Given the description of an element on the screen output the (x, y) to click on. 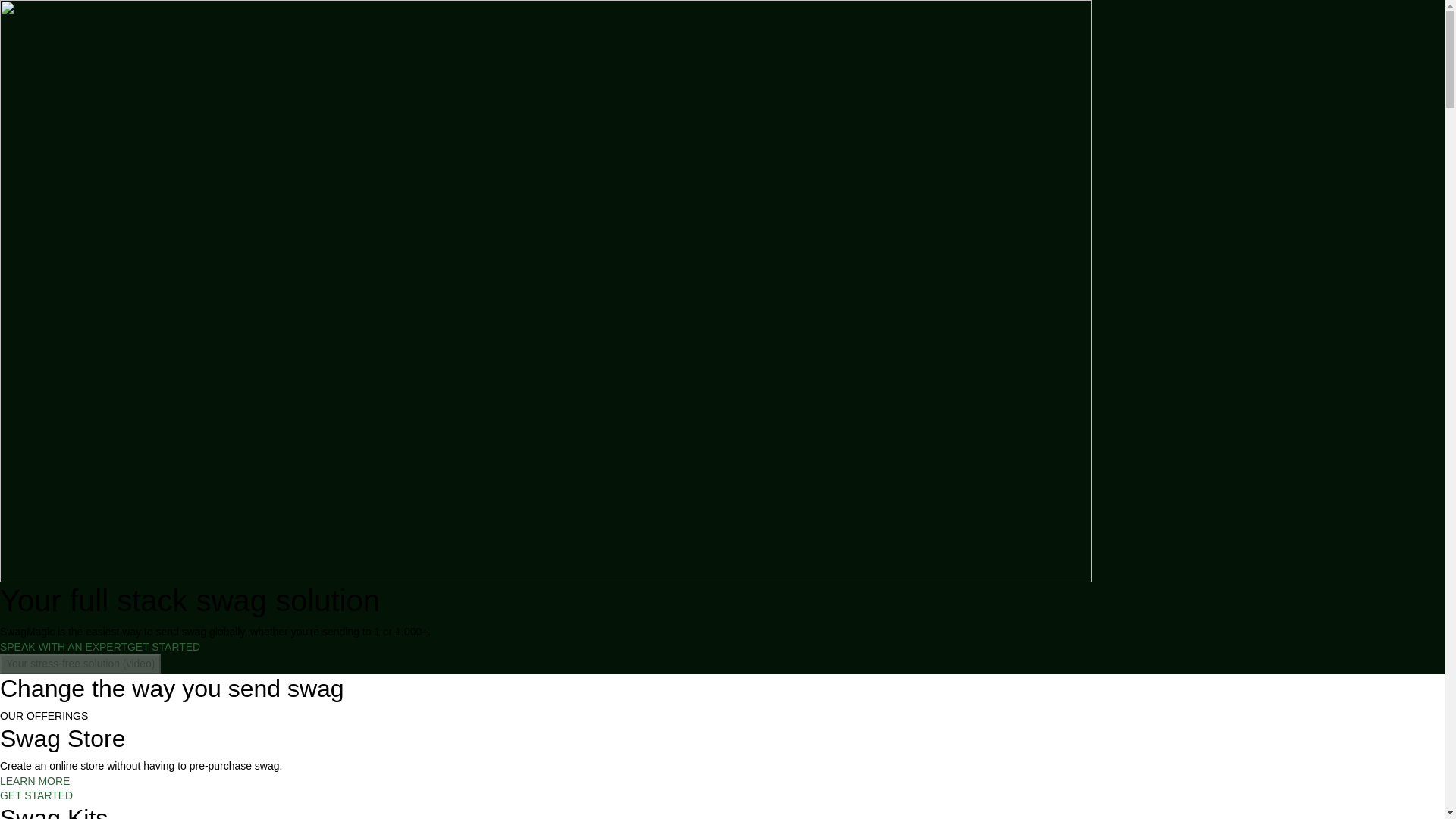
GET STARTED (164, 646)
SPEAK WITH AN EXPERT (64, 646)
GET STARTED (36, 795)
LEARN MORE (34, 780)
